Given the description of an element on the screen output the (x, y) to click on. 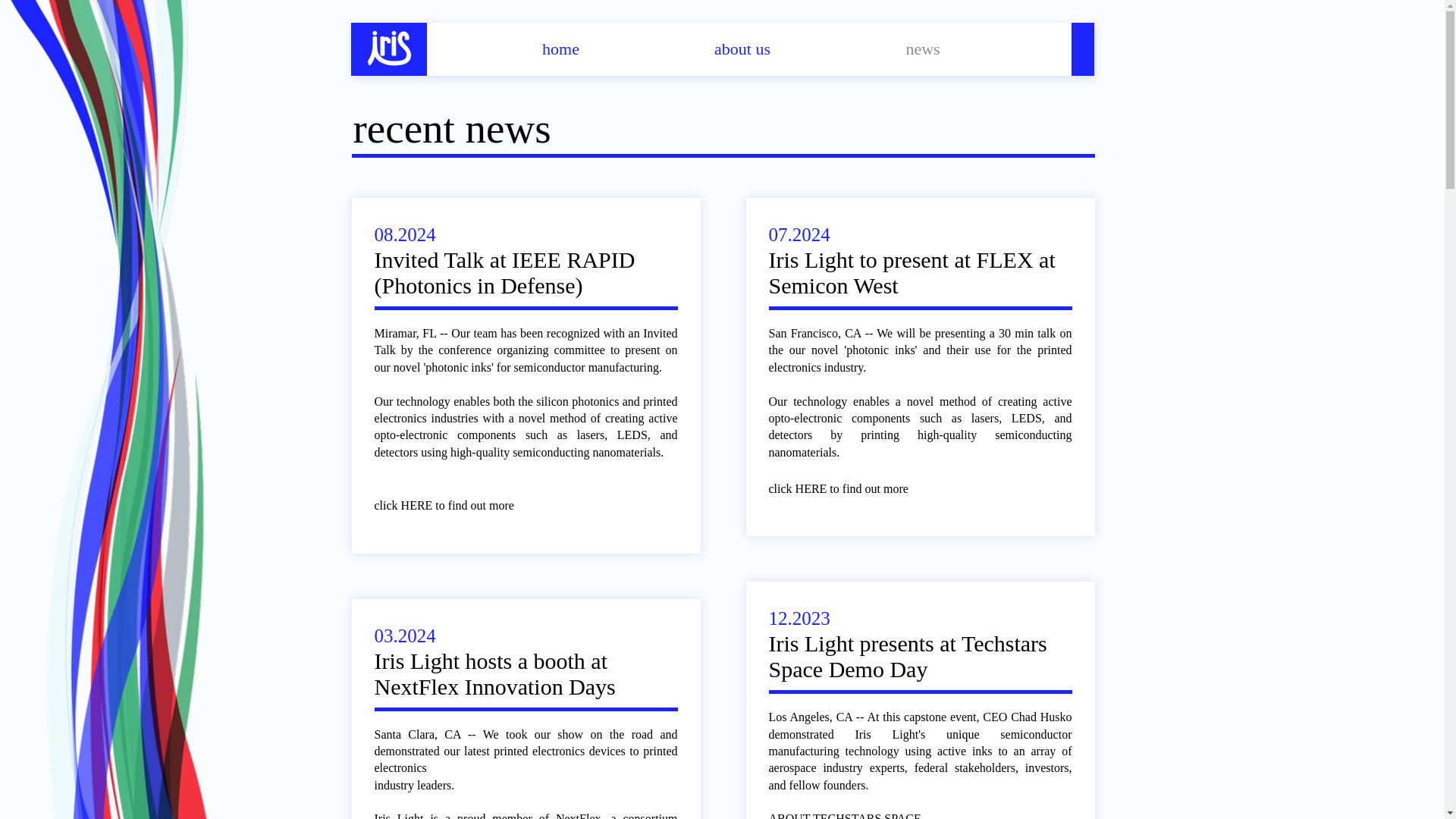
about us (743, 48)
news (922, 48)
click HERE to find out more (849, 488)
home (561, 48)
click HERE to find out more (455, 506)
